Given the description of an element on the screen output the (x, y) to click on. 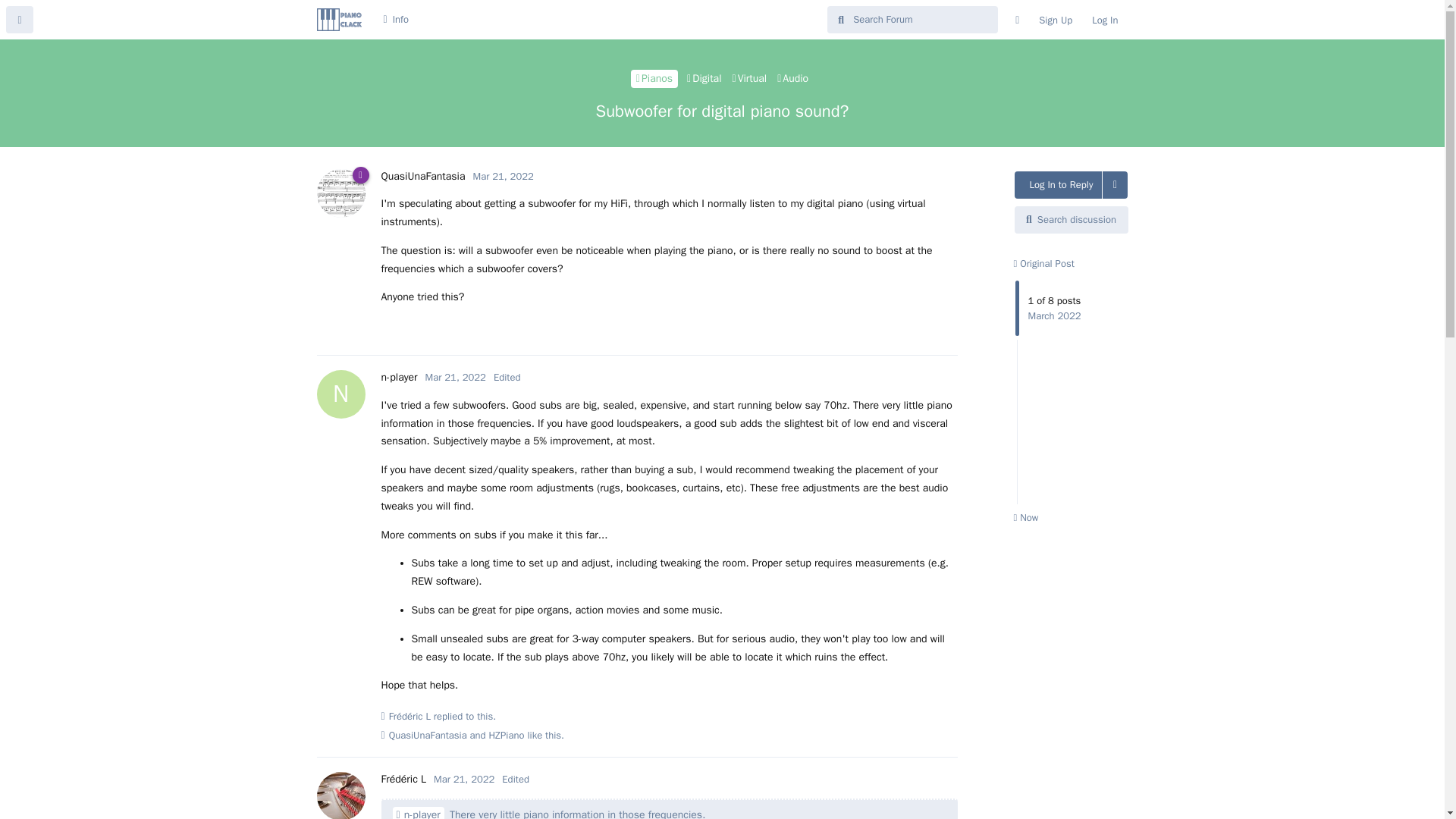
Mar 21, 2022 (455, 377)
Software pianos, DAW-s, effects, plugins (748, 78)
Log In to Reply (1058, 185)
Mar 21, 2022 (464, 779)
QuasiUnaFantasia (427, 735)
Sign Up (1055, 19)
Virtual (748, 78)
It's all about pianos (654, 78)
Search discussion (1071, 219)
Info (394, 19)
Audio (792, 78)
HZPiano (506, 735)
Mar 21, 2022 (503, 175)
QuasiUnaFantasia (422, 175)
Headphones, speakers, audio-interfaces, etc. (792, 78)
